Given the description of an element on the screen output the (x, y) to click on. 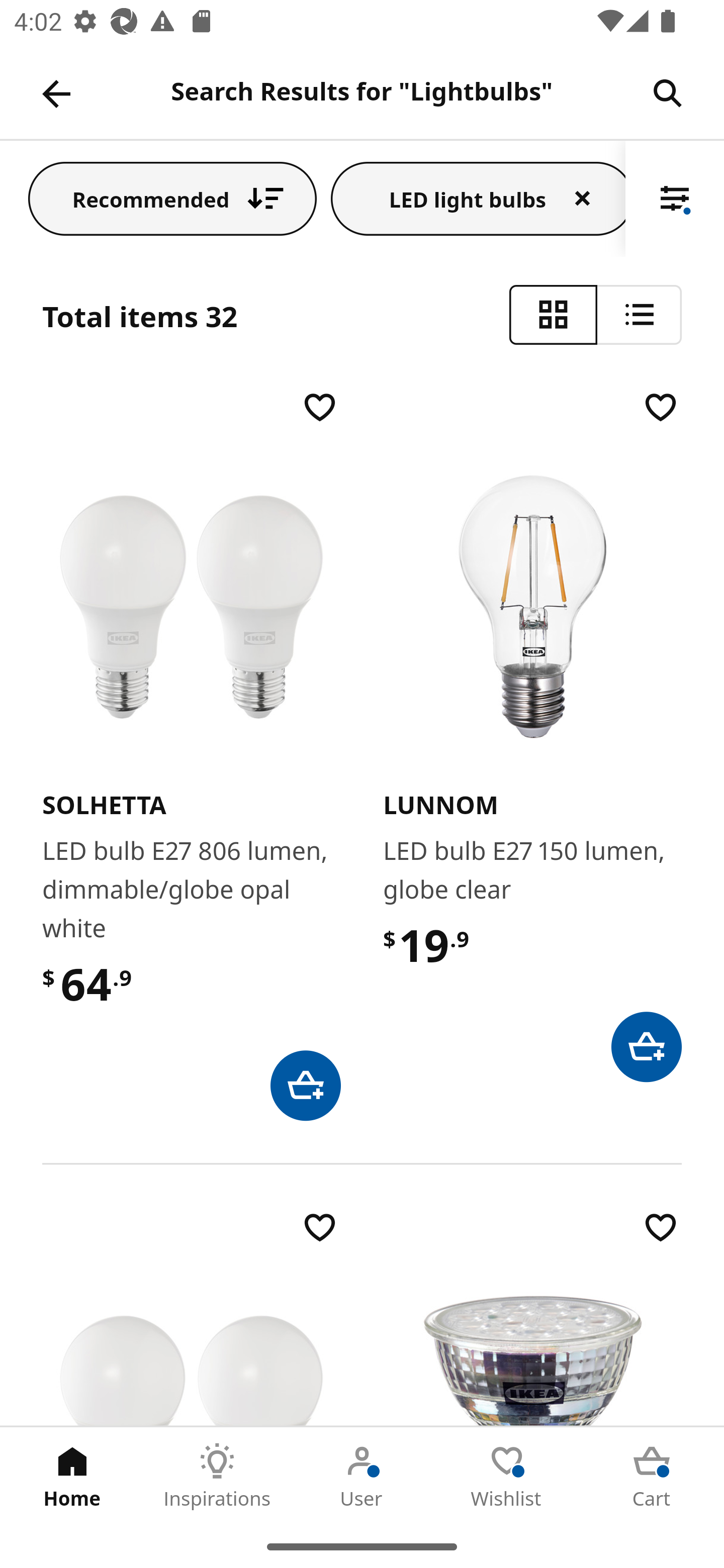
Recommended (172, 198)
LED light bulbs (477, 198)
Home
Tab 1 of 5 (72, 1476)
Inspirations
Tab 2 of 5 (216, 1476)
User
Tab 3 of 5 (361, 1476)
Wishlist
Tab 4 of 5 (506, 1476)
Cart
Tab 5 of 5 (651, 1476)
